Given the description of an element on the screen output the (x, y) to click on. 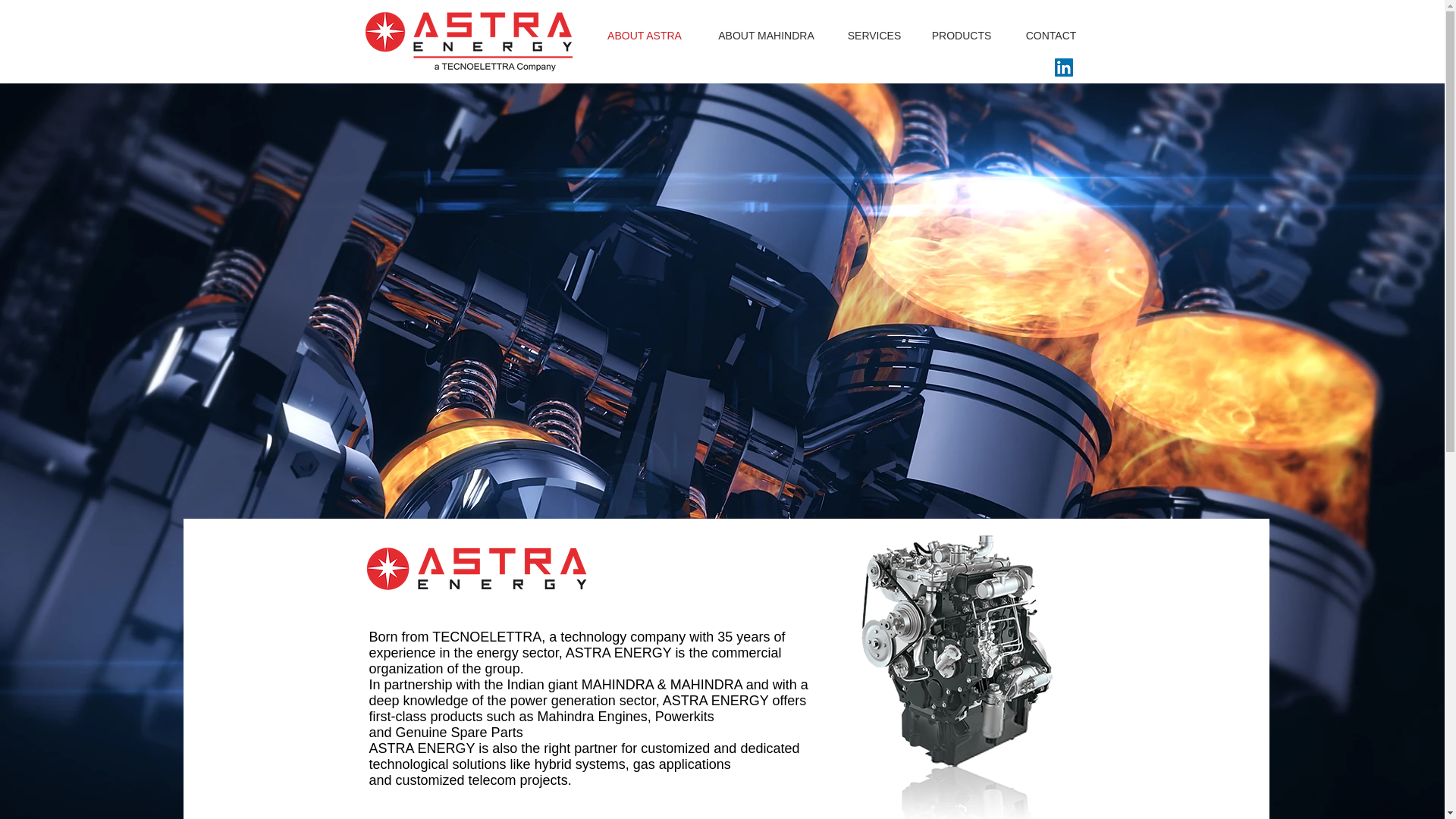
GIA.png (1049, 671)
ABOUT MAHINDRA (765, 35)
ABOUT ASTRA (644, 35)
PRODUCTS (961, 35)
CONTACT (1050, 35)
SERVICES (873, 35)
